Given the description of an element on the screen output the (x, y) to click on. 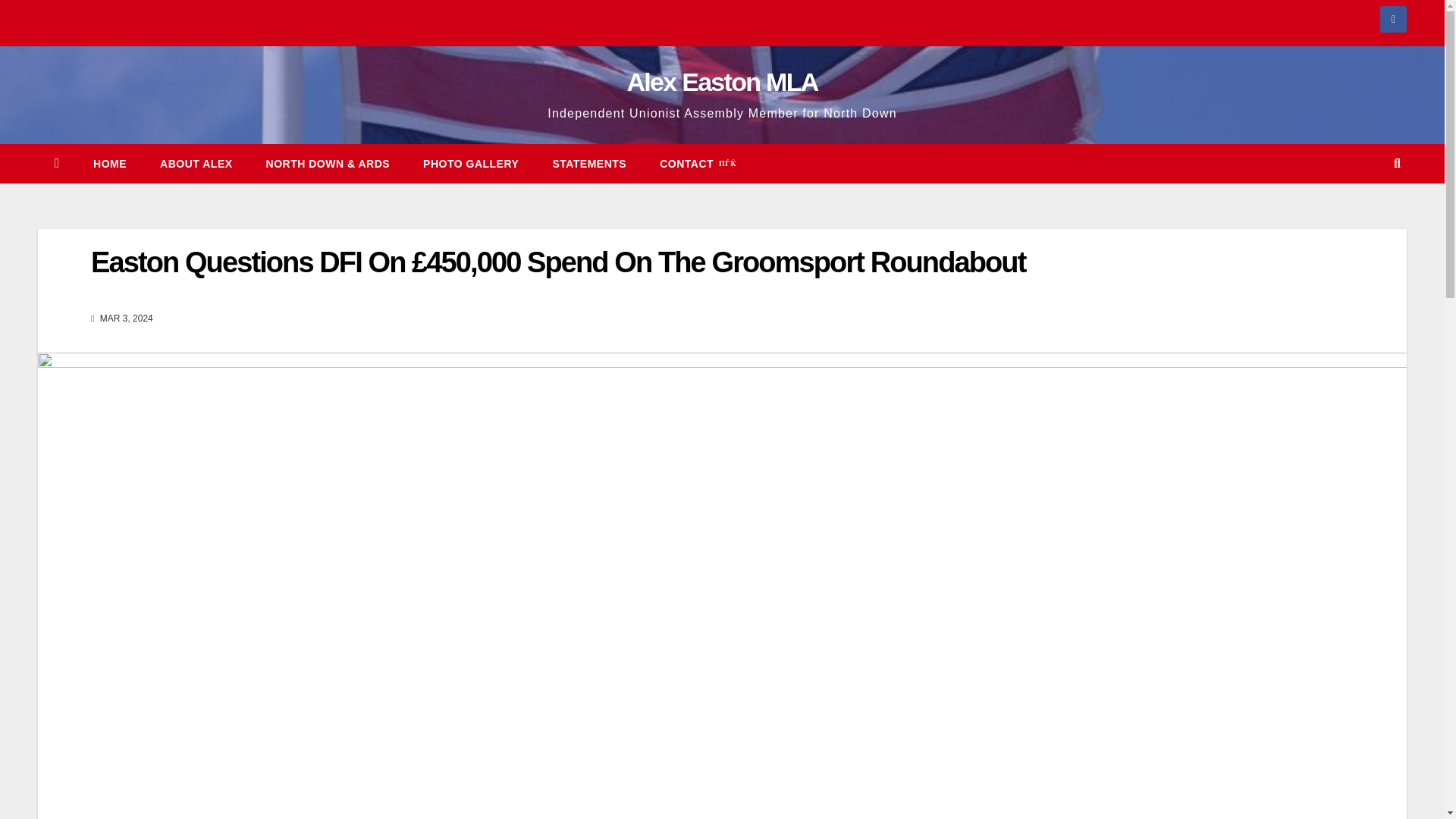
PHOTO GALLERY (470, 163)
Alex Easton MLA (721, 81)
HOME (109, 163)
ABOUT ALEX (195, 163)
Statements (589, 163)
STATEMENTS (589, 163)
Home (109, 163)
Photo Gallery (470, 163)
Contact (697, 163)
About Alex (195, 163)
CONTACT (697, 163)
